Given the description of an element on the screen output the (x, y) to click on. 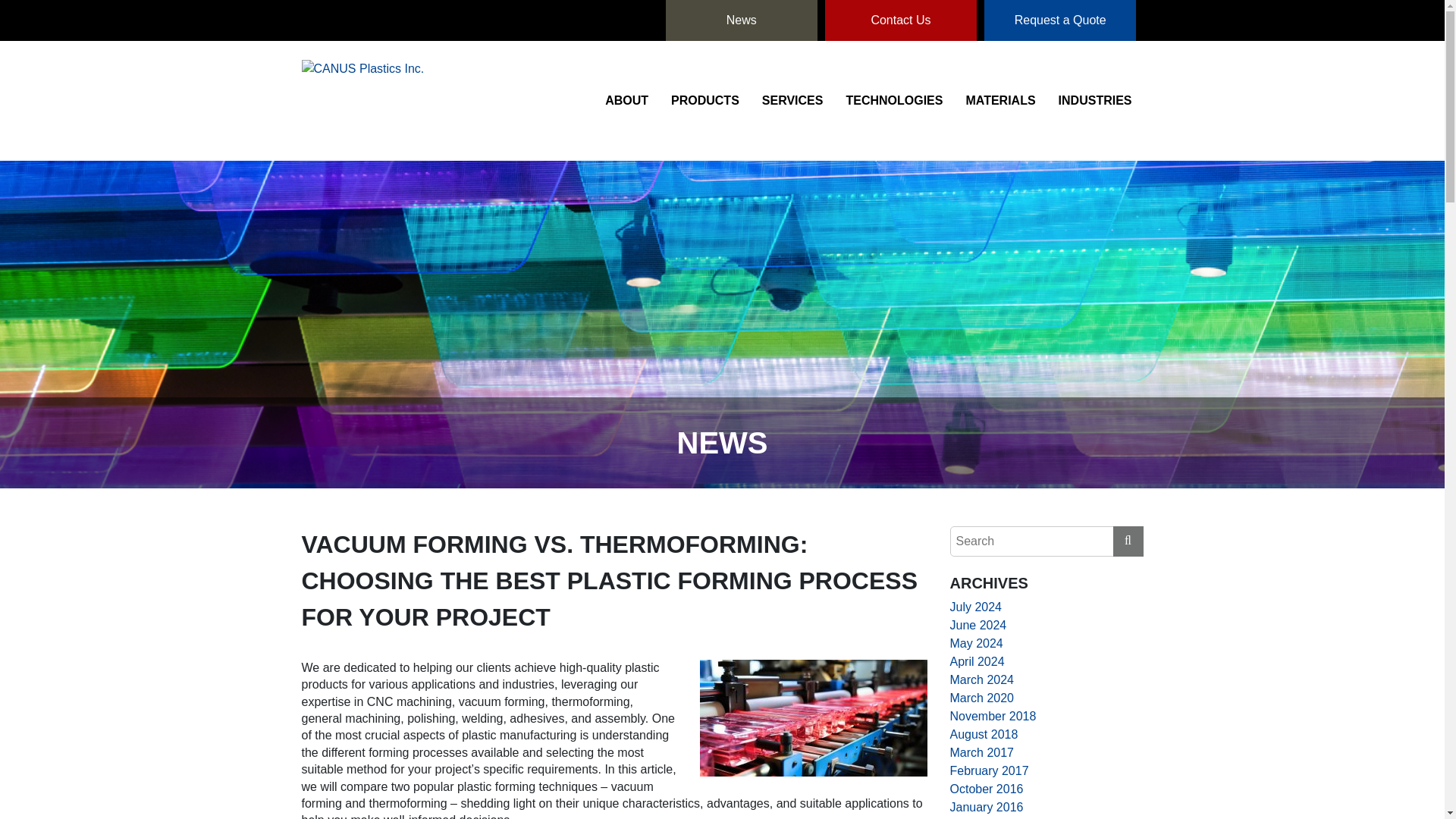
Search (1132, 541)
CANUS Plastics Inc. (363, 100)
ABOUT (626, 100)
Request a Quote (1059, 20)
Products (705, 100)
Contact Us (900, 20)
Contact Us (900, 20)
News (740, 20)
News (740, 20)
PRODUCTS (705, 100)
About Us (626, 100)
TECHNOLOGIES (893, 100)
Request a Quote (1059, 20)
SERVICES (792, 100)
MATERIALS (999, 100)
